Given the description of an element on the screen output the (x, y) to click on. 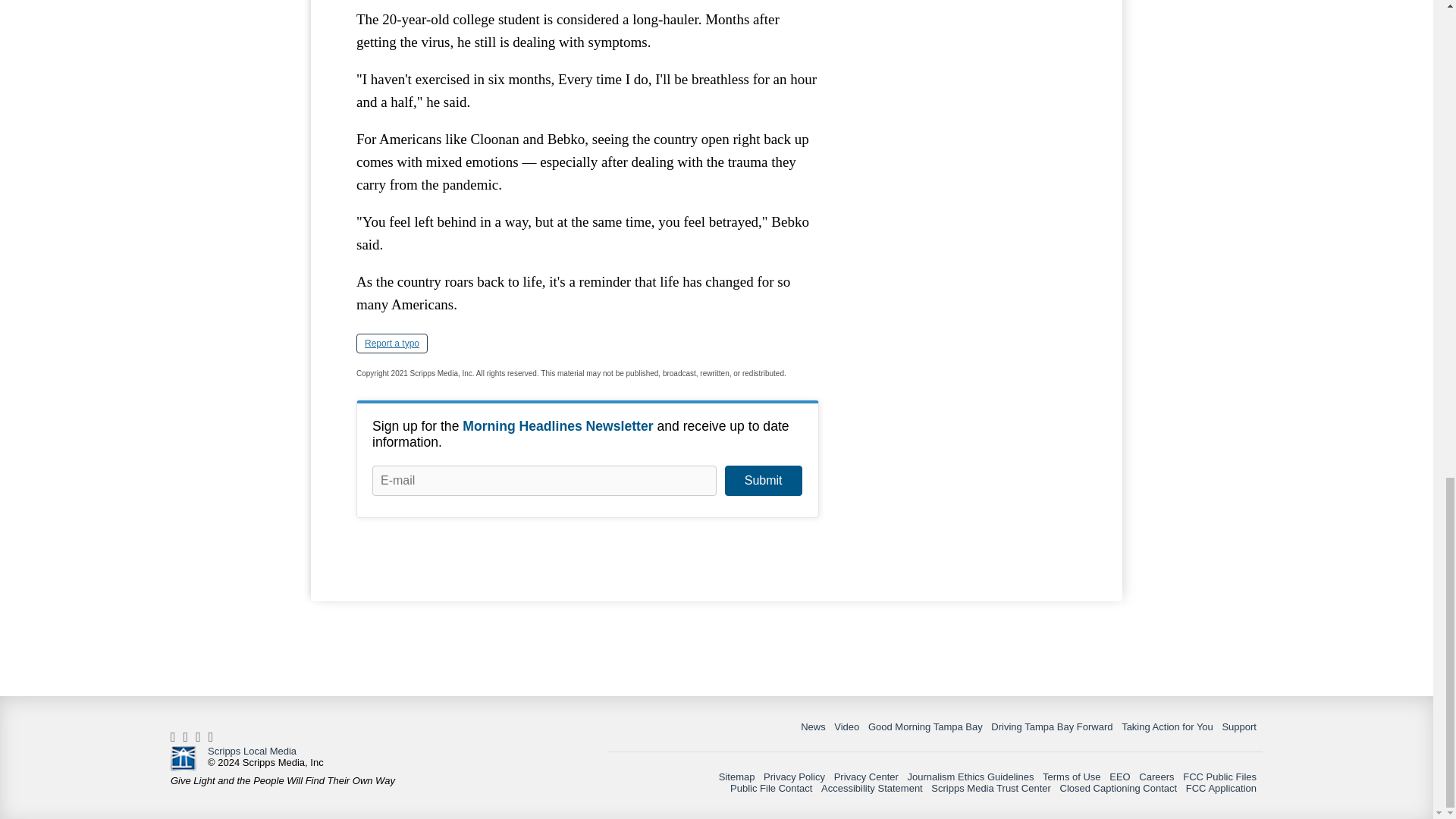
Submit (763, 481)
